Given the description of an element on the screen output the (x, y) to click on. 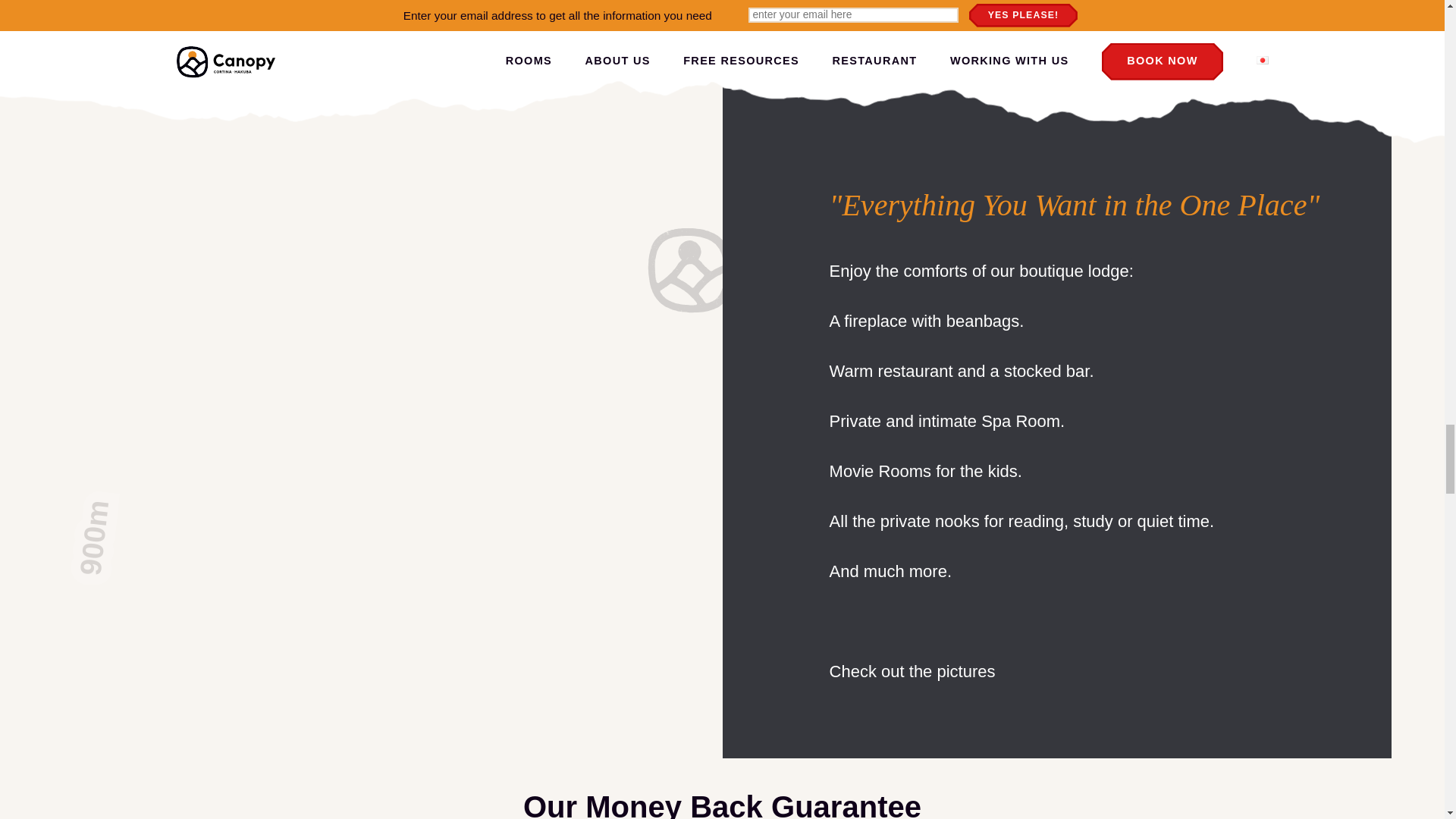
NEXT PHOTO (967, 9)
PREV PHOTO (873, 9)
